Given the description of an element on the screen output the (x, y) to click on. 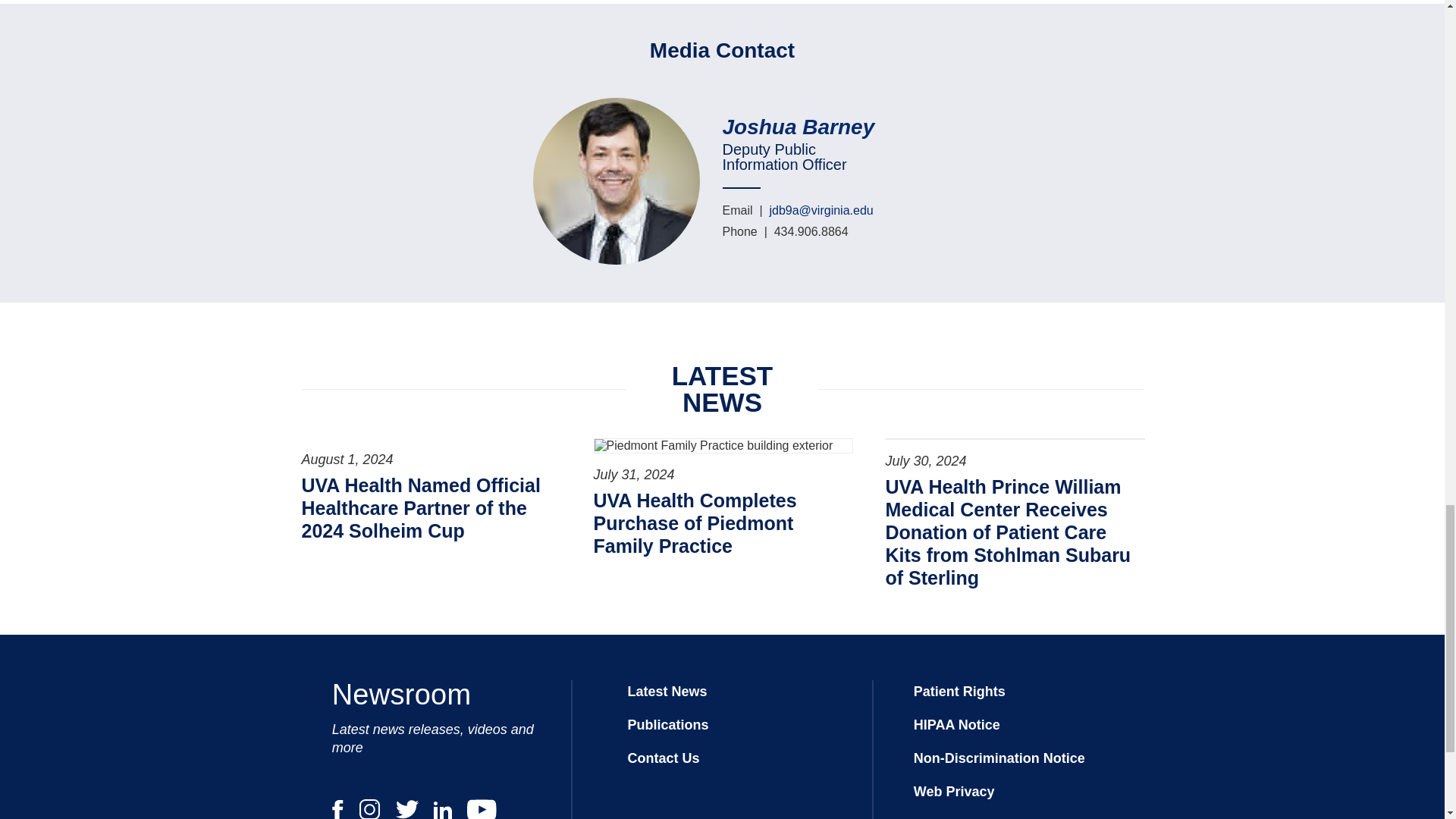
Latest News (666, 691)
Publications (667, 724)
Web Privacy (954, 791)
Joshua Barney (805, 127)
HIPAA Notice (957, 724)
View all posts by  (805, 127)
Contact Us (662, 758)
Non-Discrimination Notice (999, 758)
Patient Rights (960, 691)
UVA Health Completes Purchase of Piedmont Family Practice  (721, 522)
Financial Interests (973, 818)
